Given the description of an element on the screen output the (x, y) to click on. 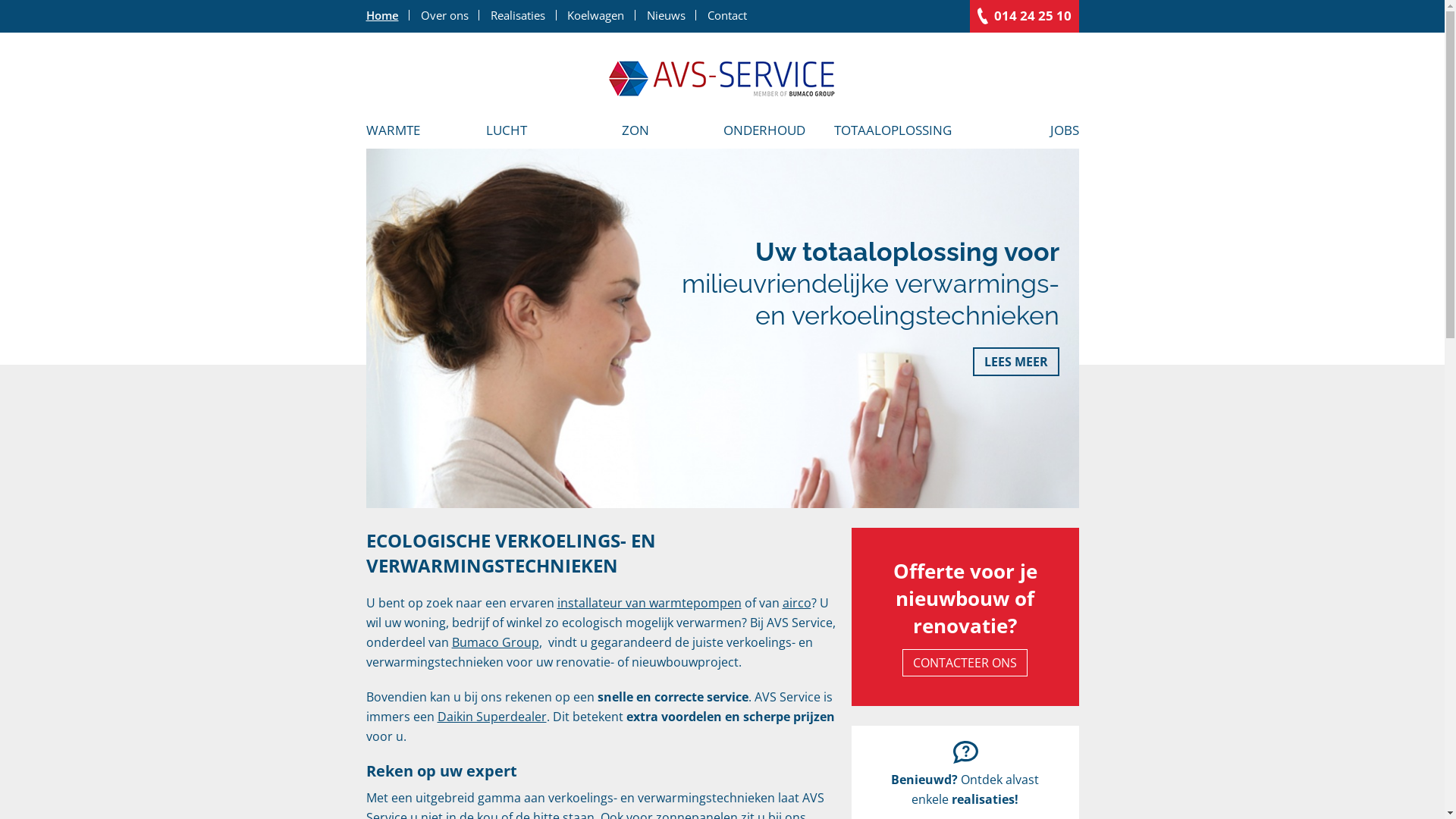
Home Element type: text (387, 15)
014 24 25 10 Element type: text (1023, 15)
LUCHT Element type: text (505, 129)
JOBS Element type: text (1017, 129)
Daikin Superdealer Element type: text (491, 716)
Nieuws Element type: text (665, 15)
Realisaties Element type: text (517, 15)
Bumaco Group Element type: text (495, 641)
TOTAALOPLOSSING Element type: text (892, 129)
Koelwagen Element type: text (595, 15)
airco Element type: text (796, 602)
ONDERHOUD Element type: text (763, 129)
Offerte voor je nieuwbouw of renovatie?
CONTACTEER ONS Element type: text (964, 616)
Over ons Element type: text (444, 15)
Home Element type: hover (721, 78)
Contact Element type: text (721, 15)
WARMTE Element type: text (403, 129)
installateur van warmtepompen Element type: text (648, 602)
ZON Element type: text (634, 129)
